Given the description of an element on the screen output the (x, y) to click on. 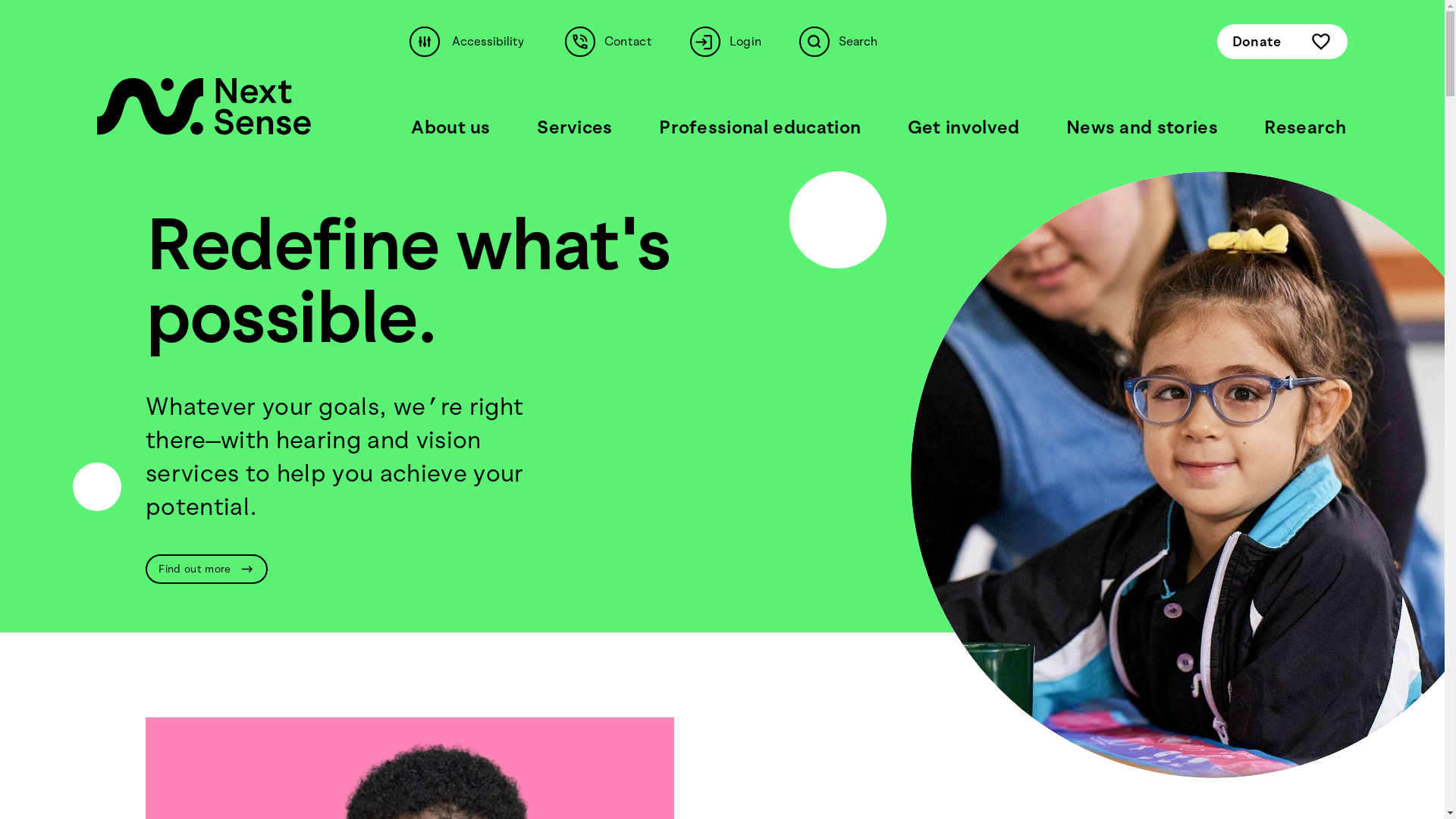
Find out more Element type: text (206, 568)
Research Element type: text (1304, 127)
About us Element type: text (450, 127)
Professional education Element type: text (759, 127)
News and stories Element type: text (1141, 127)
Donate Element type: text (1282, 41)
Get involved Element type: text (963, 127)
Services Element type: text (574, 127)
Contact Element type: text (614, 41)
Login Element type: text (732, 41)
Accessibility Element type: text (474, 41)
Search Element type: text (845, 41)
